Given the description of an element on the screen output the (x, y) to click on. 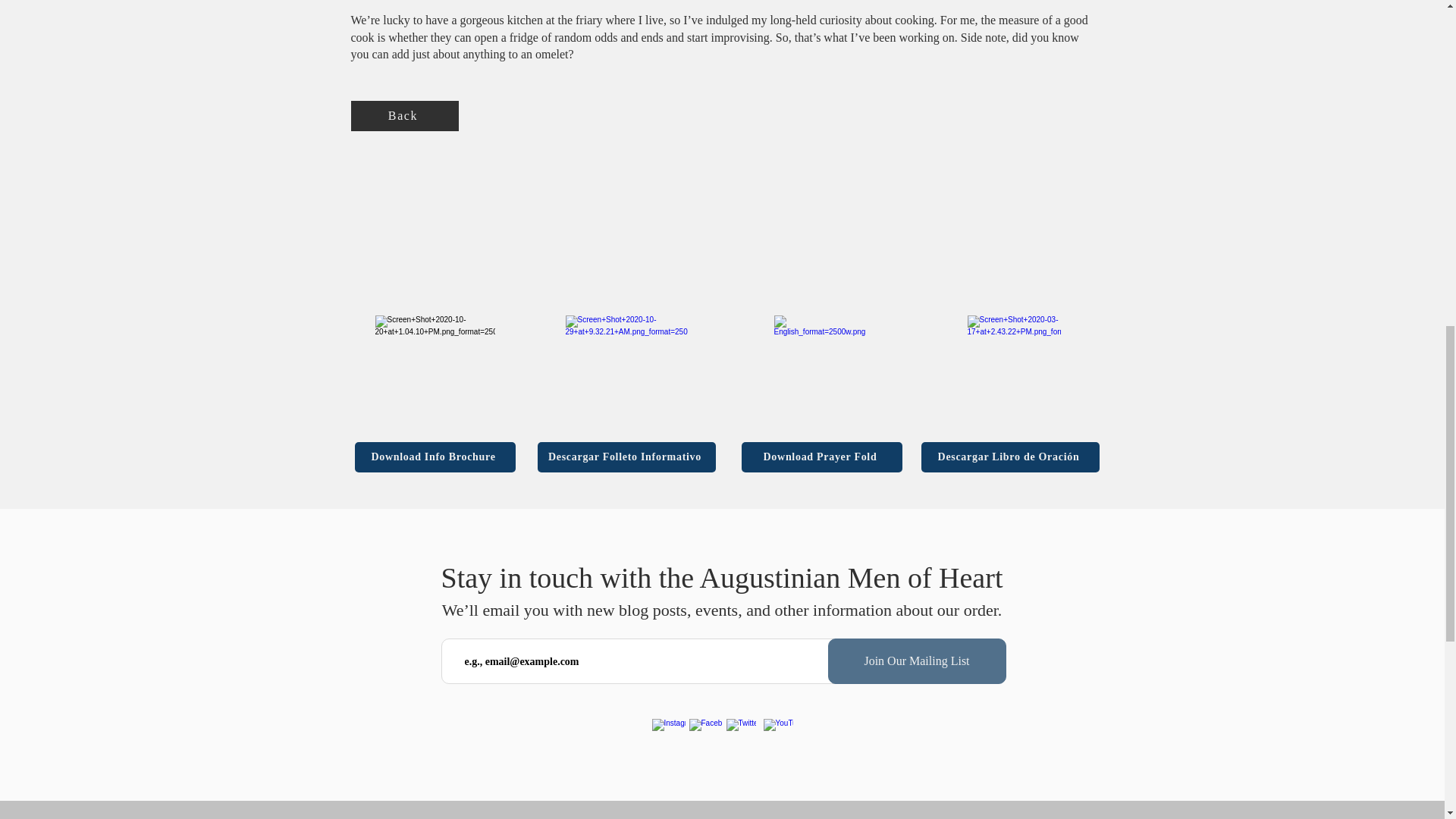
Back (404, 115)
Join Our Mailing List (917, 660)
Download Info Brochure (435, 457)
Download Prayer Fold (821, 457)
Descargar Folleto Informativo (625, 457)
